Given the description of an element on the screen output the (x, y) to click on. 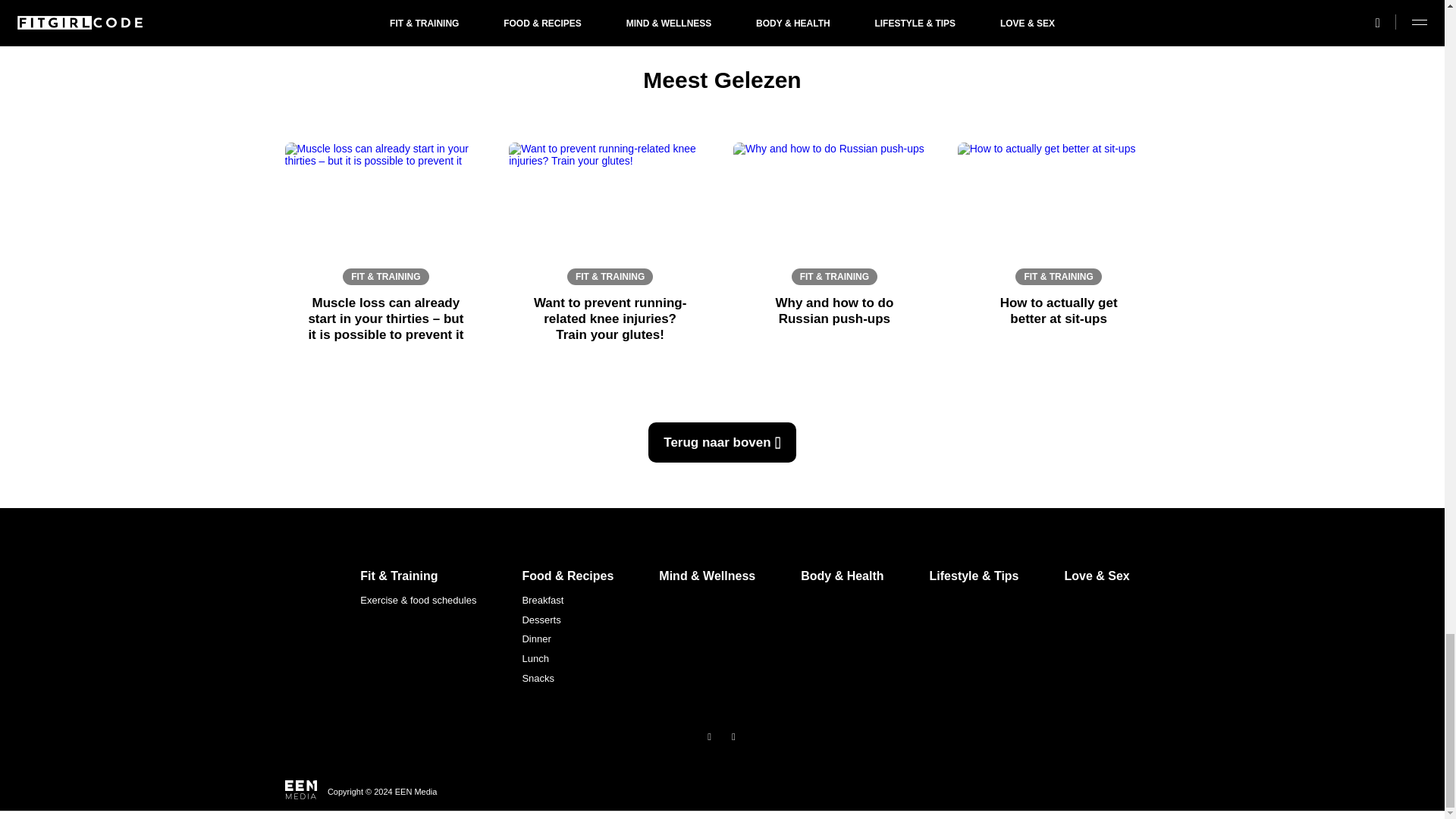
Lunch (566, 659)
Snacks (566, 678)
Breakfast (566, 600)
Terug naar boven (720, 442)
Desserts (566, 619)
Dinner (566, 639)
